Given the description of an element on the screen output the (x, y) to click on. 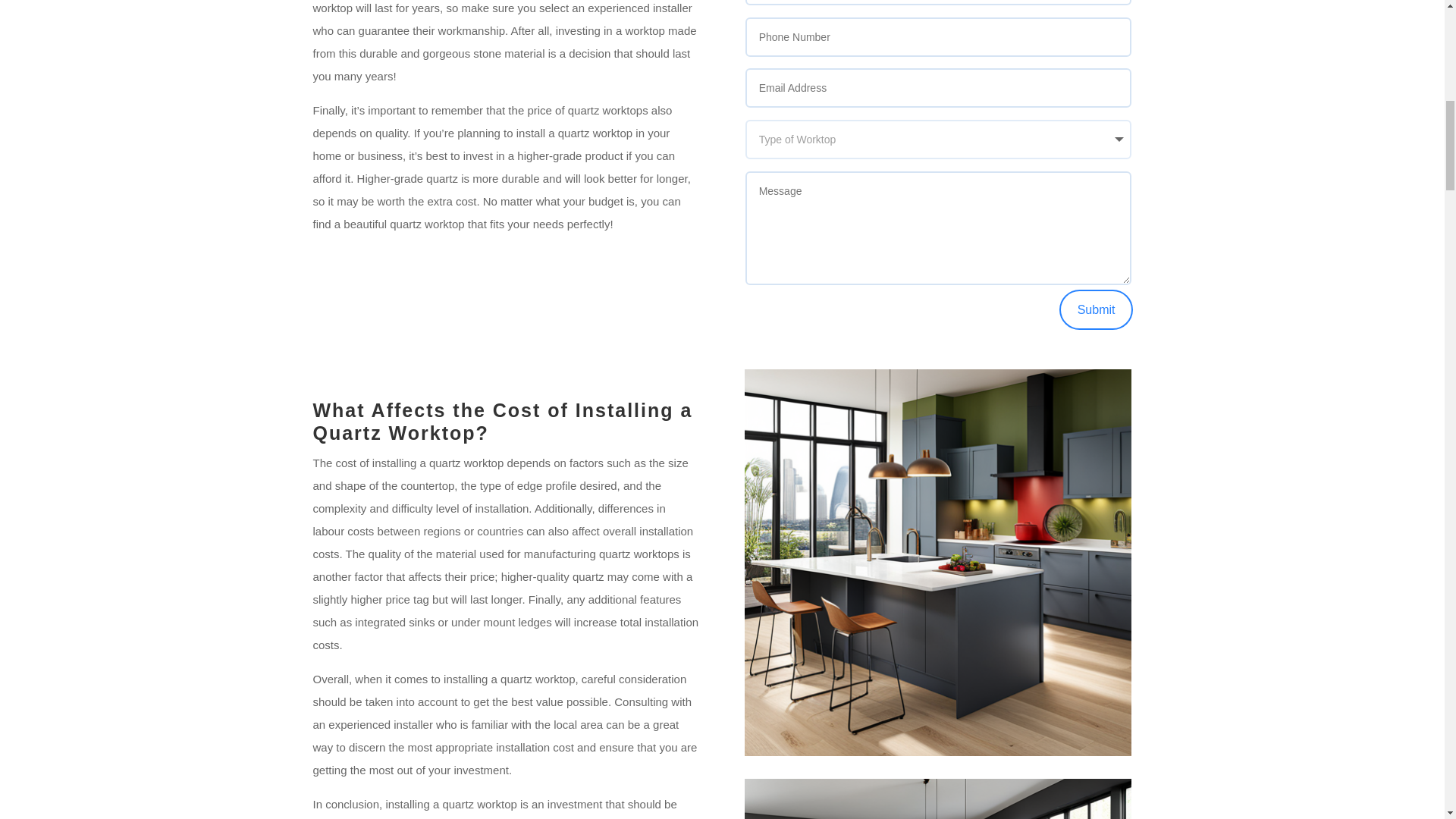
Only numbers allowed. (938, 36)
quartz kitchen worktops 6 (937, 798)
Submit (1096, 309)
